Given the description of an element on the screen output the (x, y) to click on. 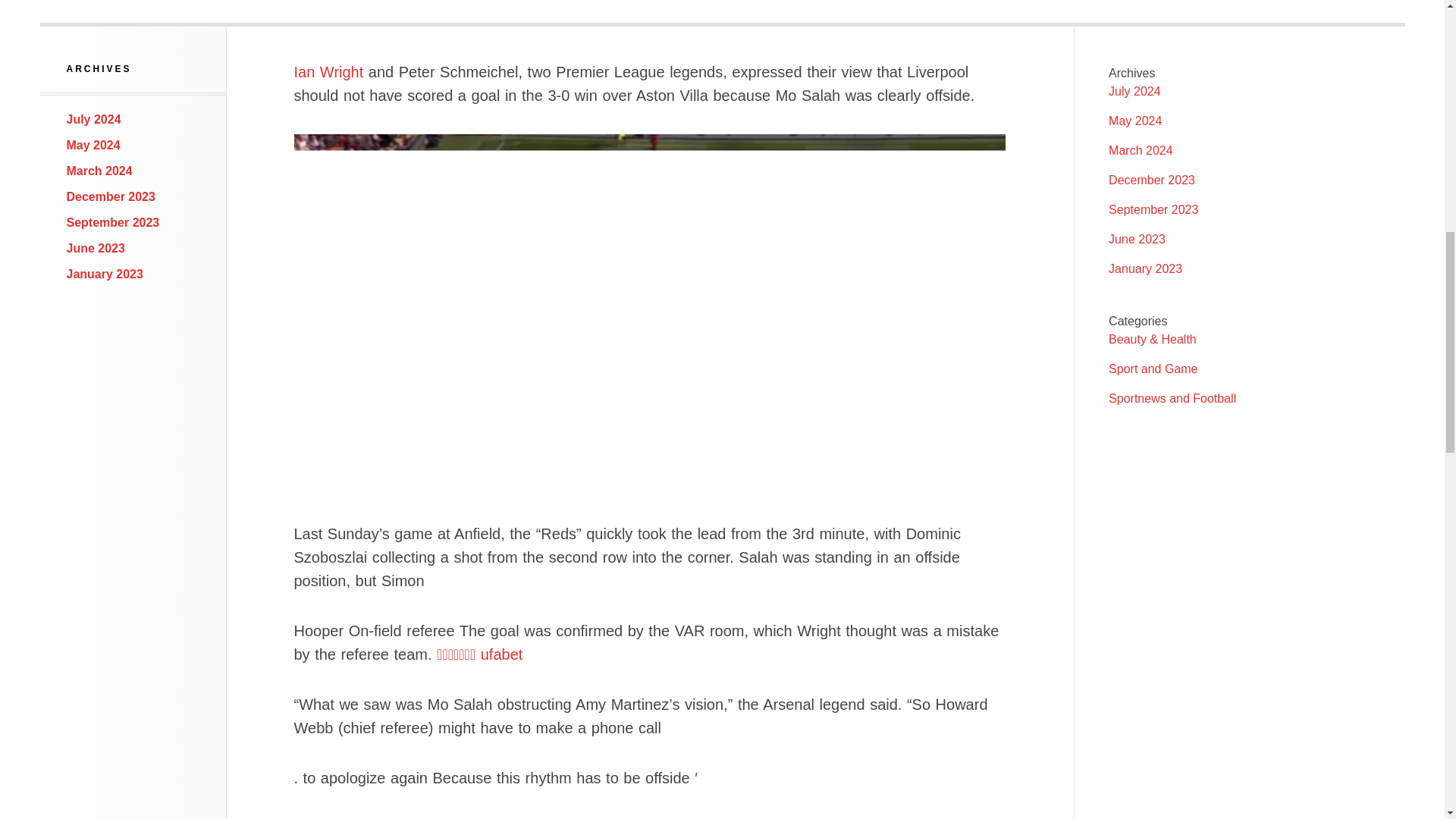
January 2023 (1145, 268)
December 2023 (110, 196)
January 2023 (104, 273)
July 2024 (1134, 91)
July 2024 (93, 119)
Ian Wright (329, 71)
September 2023 (1153, 209)
June 2023 (95, 247)
June 2023 (1137, 238)
May 2024 (93, 144)
March 2024 (99, 170)
March 2024 (1140, 150)
December 2023 (1151, 179)
September 2023 (113, 222)
Sport and Game (1152, 368)
